Given the description of an element on the screen output the (x, y) to click on. 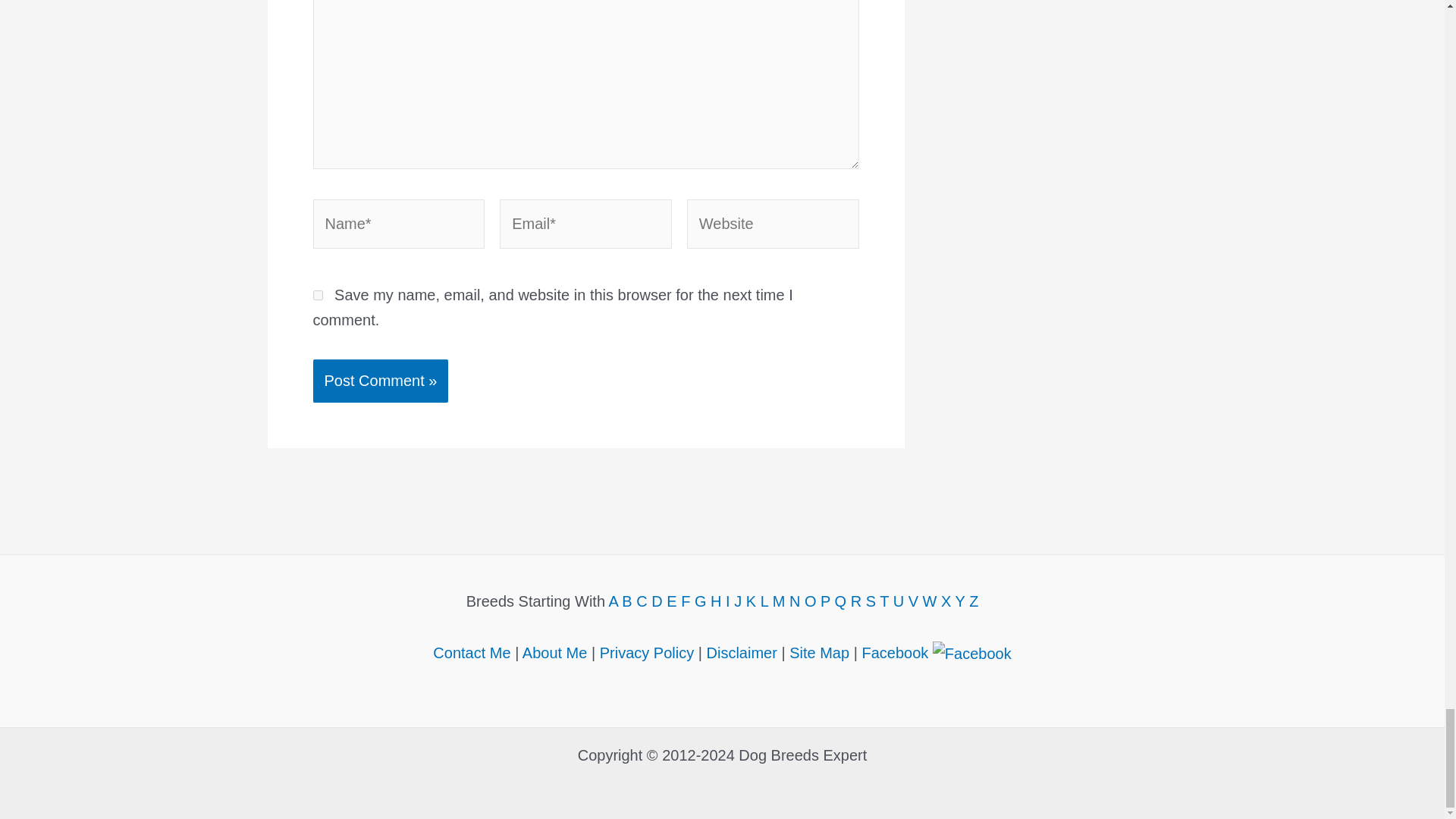
yes (317, 295)
